Given the description of an element on the screen output the (x, y) to click on. 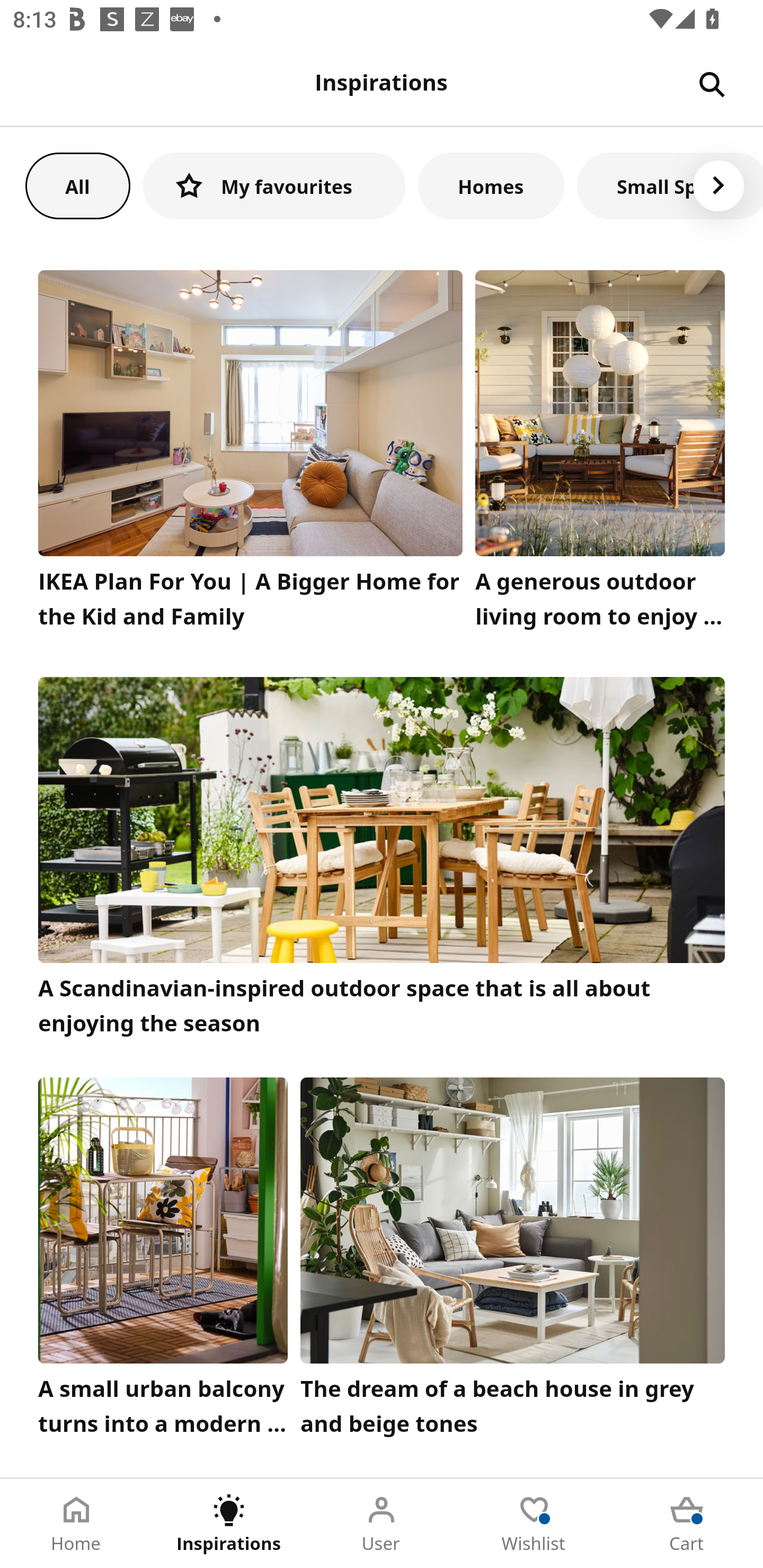
All (77, 185)
My favourites (274, 185)
Homes (491, 185)
The dream of a beach house in grey and beige tones (512, 1261)
Home
Tab 1 of 5 (76, 1522)
Inspirations
Tab 2 of 5 (228, 1522)
User
Tab 3 of 5 (381, 1522)
Wishlist
Tab 4 of 5 (533, 1522)
Cart
Tab 5 of 5 (686, 1522)
